Given the description of an element on the screen output the (x, y) to click on. 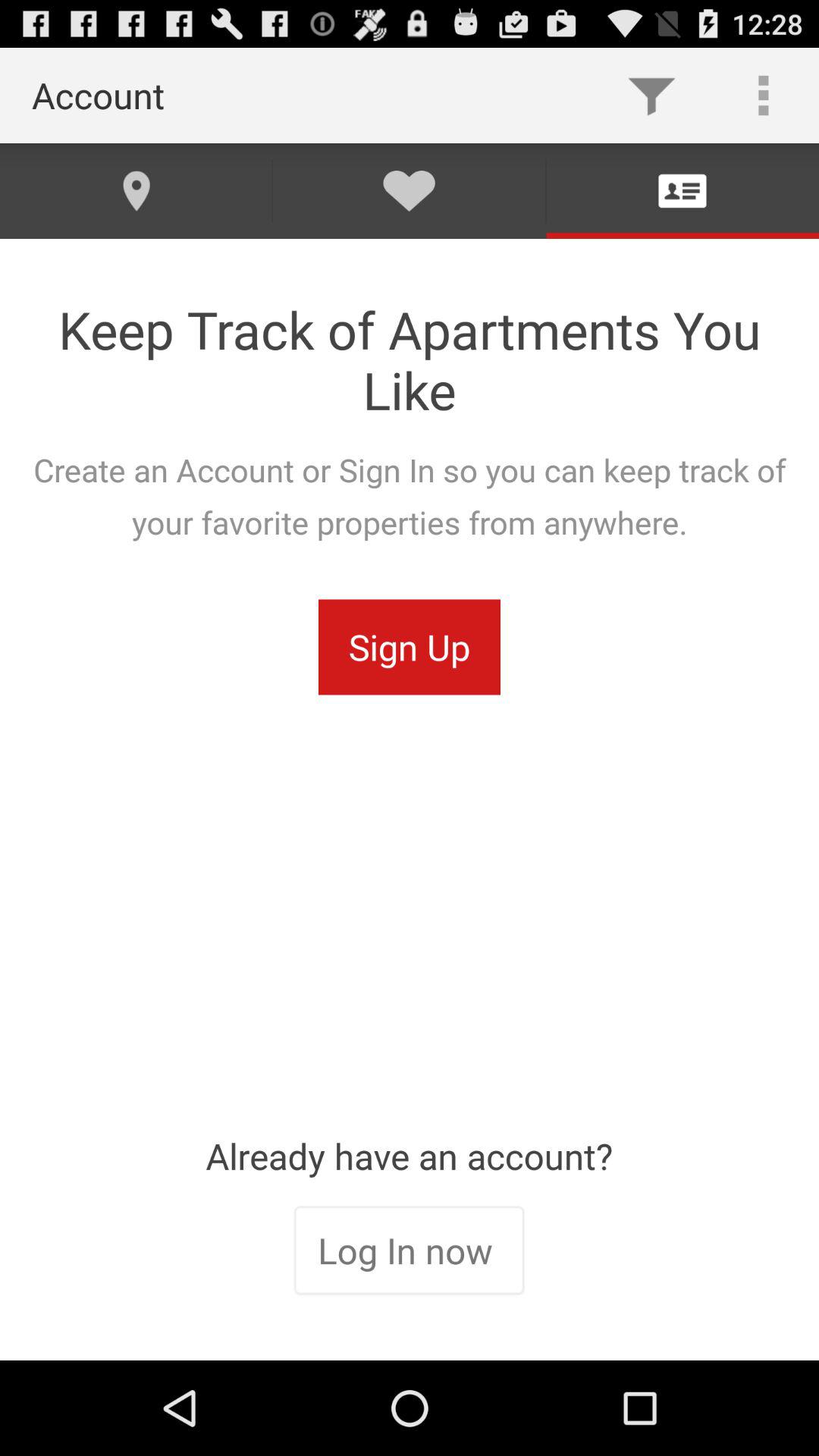
scroll until the log in now item (409, 1252)
